Given the description of an element on the screen output the (x, y) to click on. 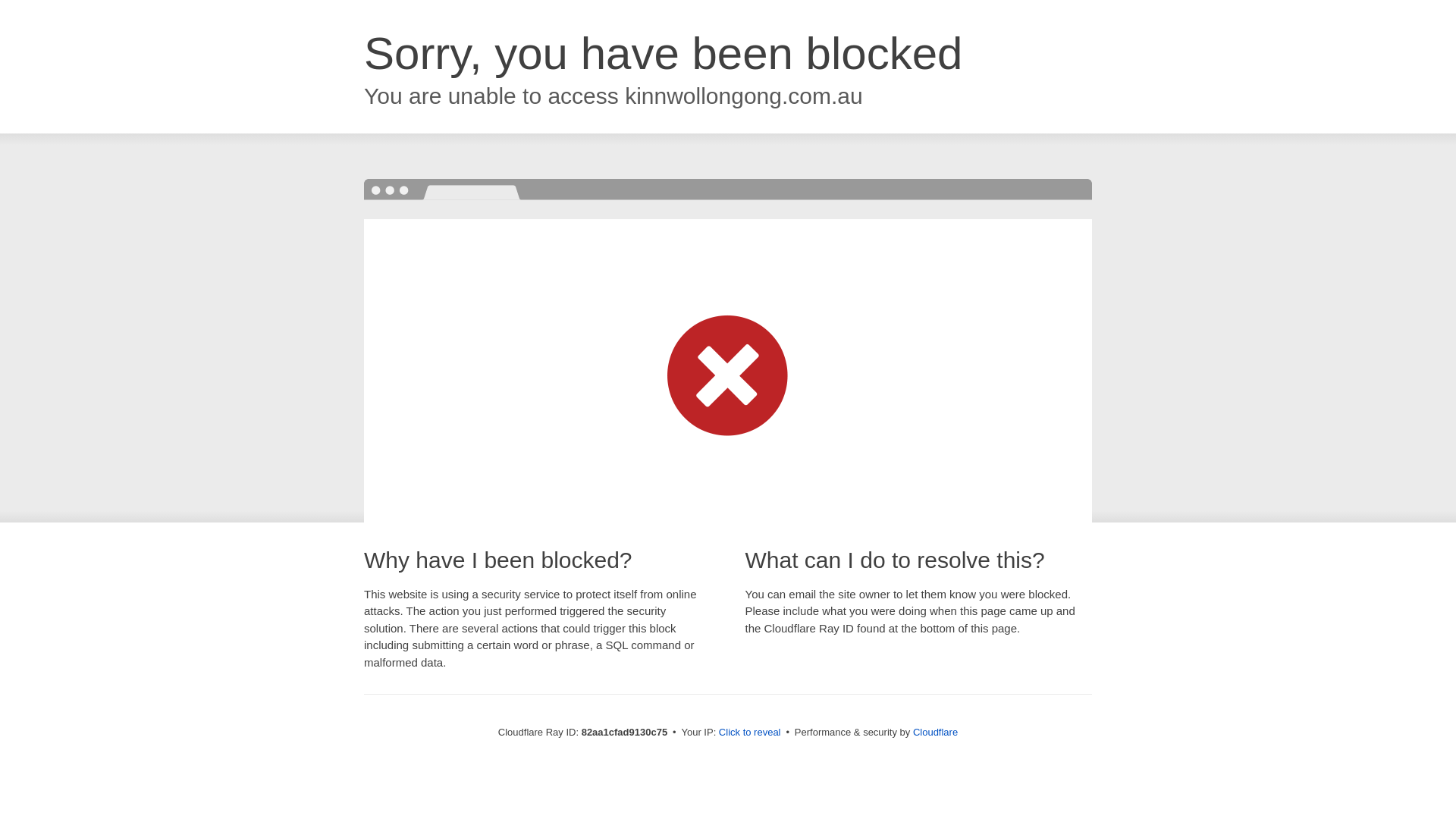
Click to reveal Element type: text (749, 732)
Cloudflare Element type: text (935, 731)
